Given the description of an element on the screen output the (x, y) to click on. 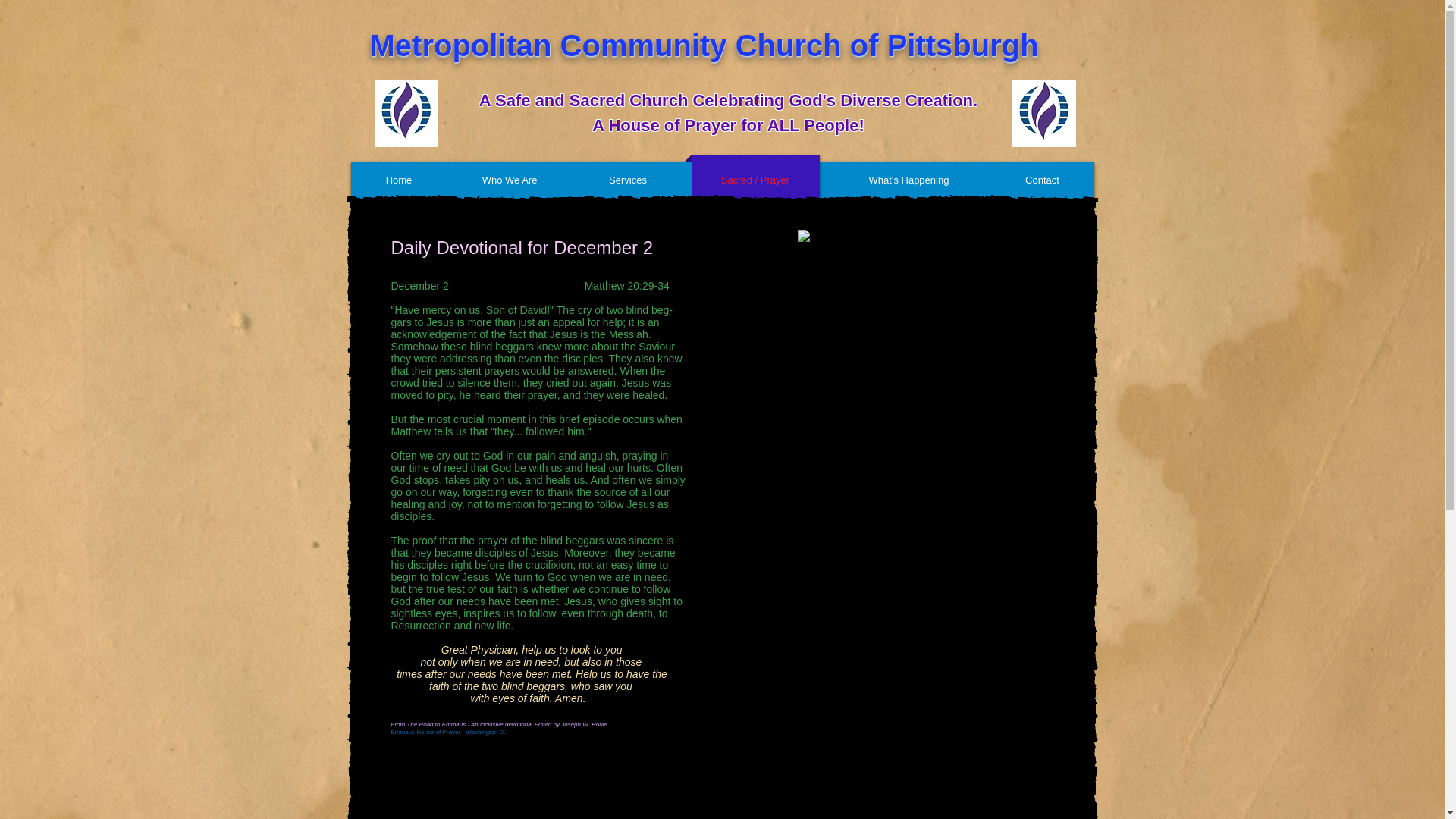
LOGO Transparent 2.JPG (406, 113)
Who We Are (509, 180)
LOGO Transparent 2.JPG (1043, 113)
Home (399, 180)
Services (628, 180)
